Given the description of an element on the screen output the (x, y) to click on. 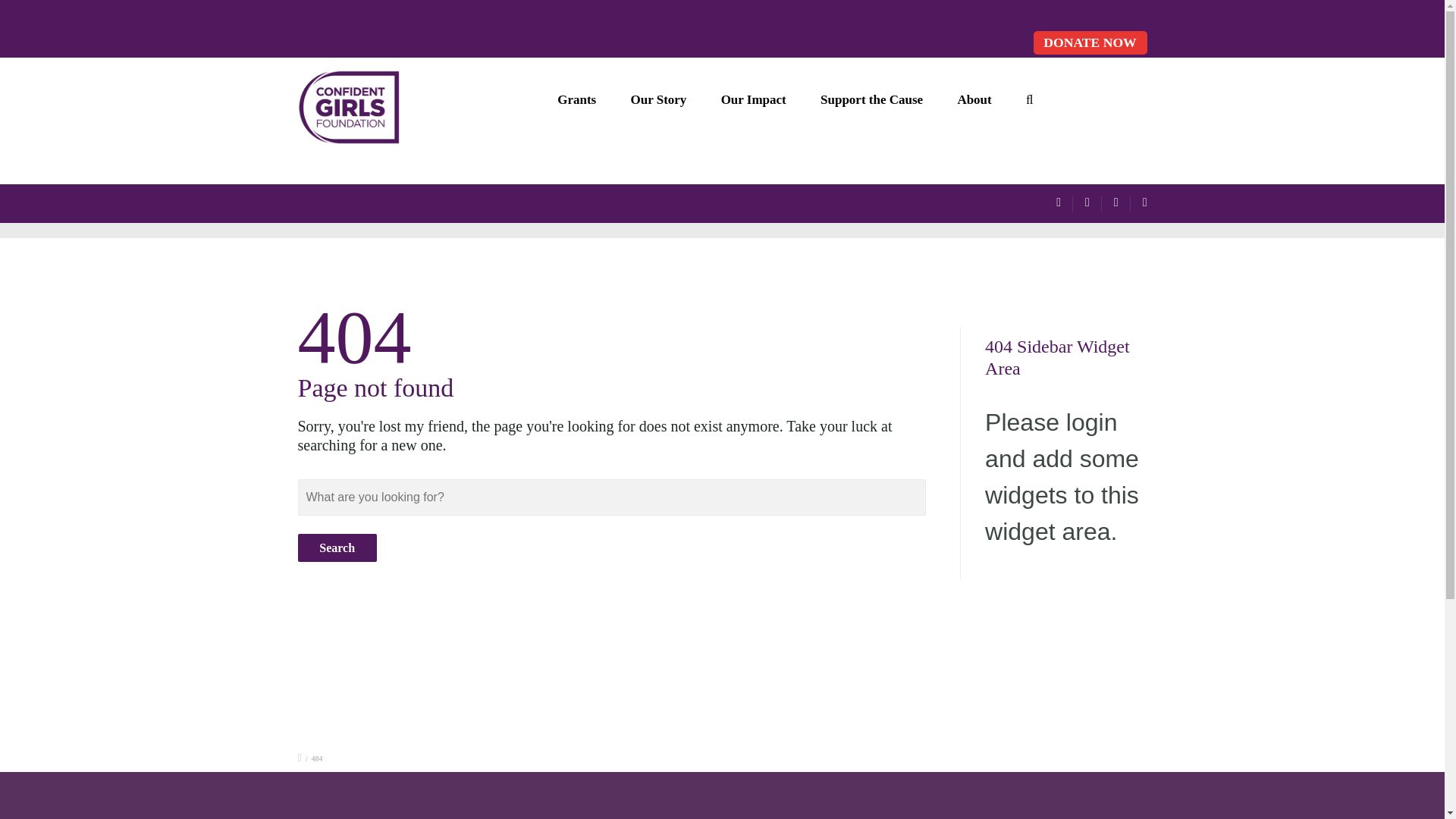
Support the Cause (871, 99)
Search (336, 547)
About (973, 99)
Grants (576, 99)
DONATE NOW (1089, 42)
Our Story (657, 99)
Search (336, 547)
Our Impact (753, 99)
